Given the description of an element on the screen output the (x, y) to click on. 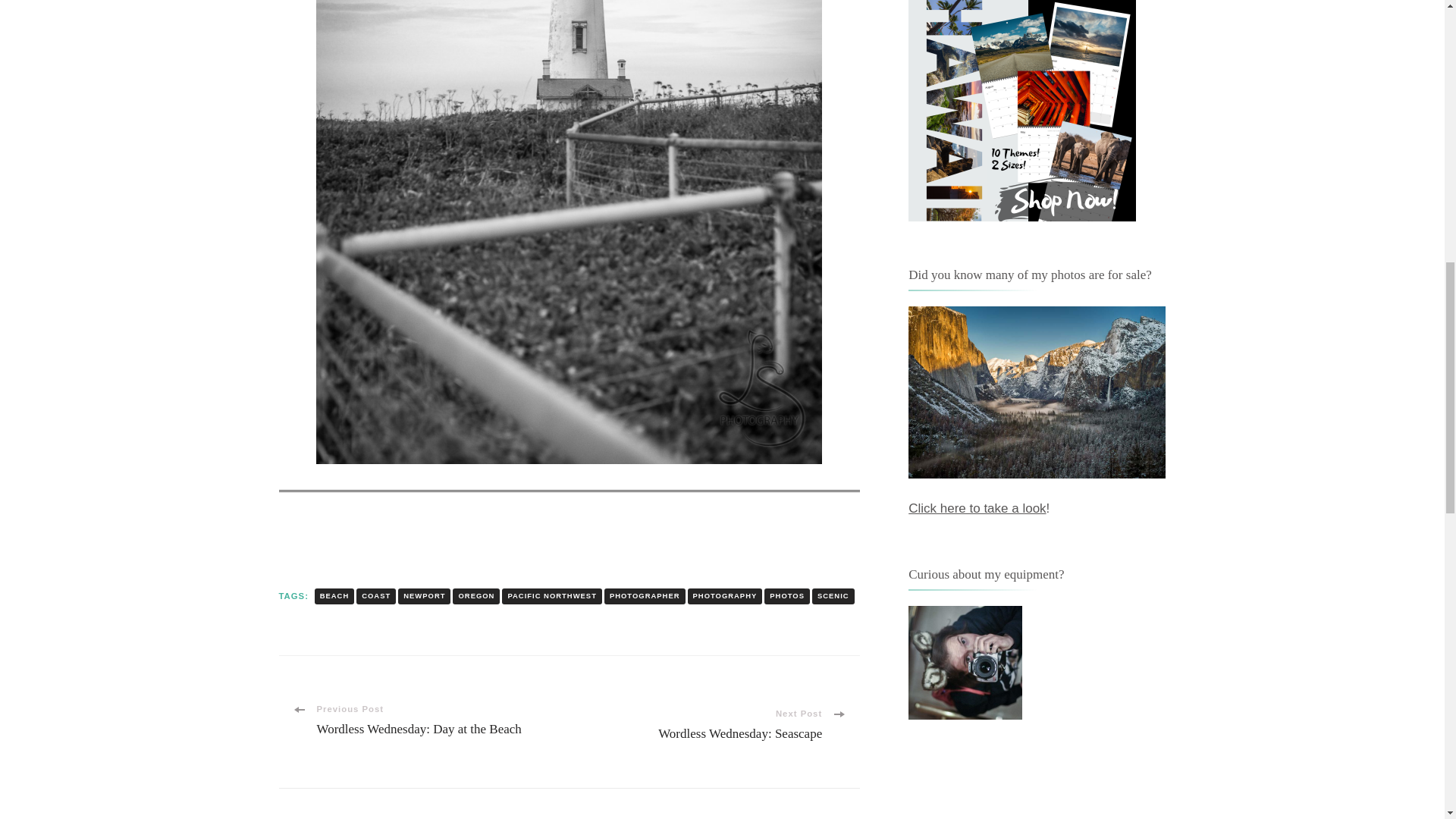
Follow Button (569, 525)
My Equipment (965, 662)
Follow Button (1037, 772)
